Given the description of an element on the screen output the (x, y) to click on. 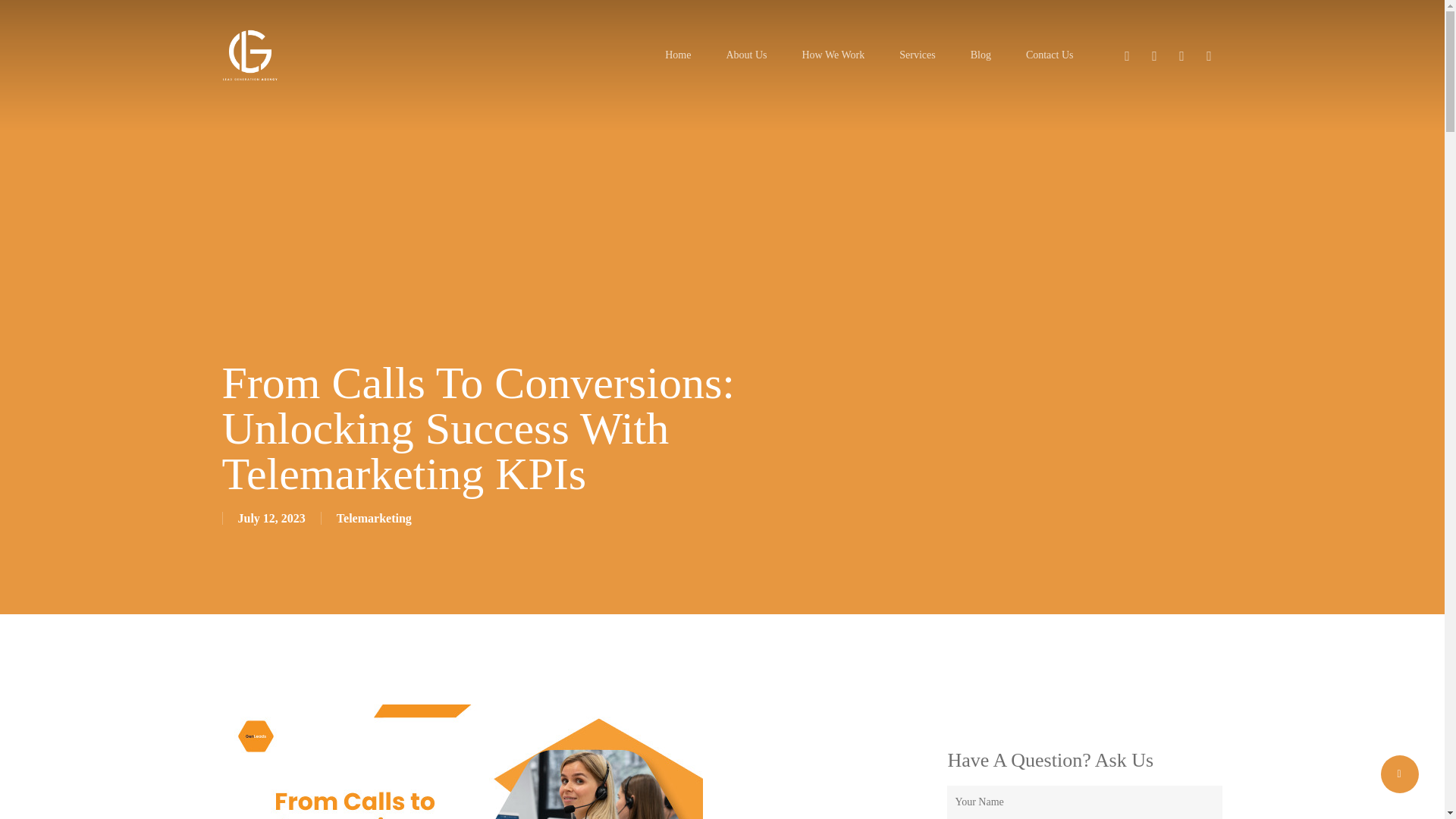
Telemarketing (374, 517)
Services (917, 54)
Blog (981, 54)
About Us (745, 54)
Home (677, 54)
How We Work (833, 54)
Submit (938, 582)
Contact Us (1049, 54)
